Given the description of an element on the screen output the (x, y) to click on. 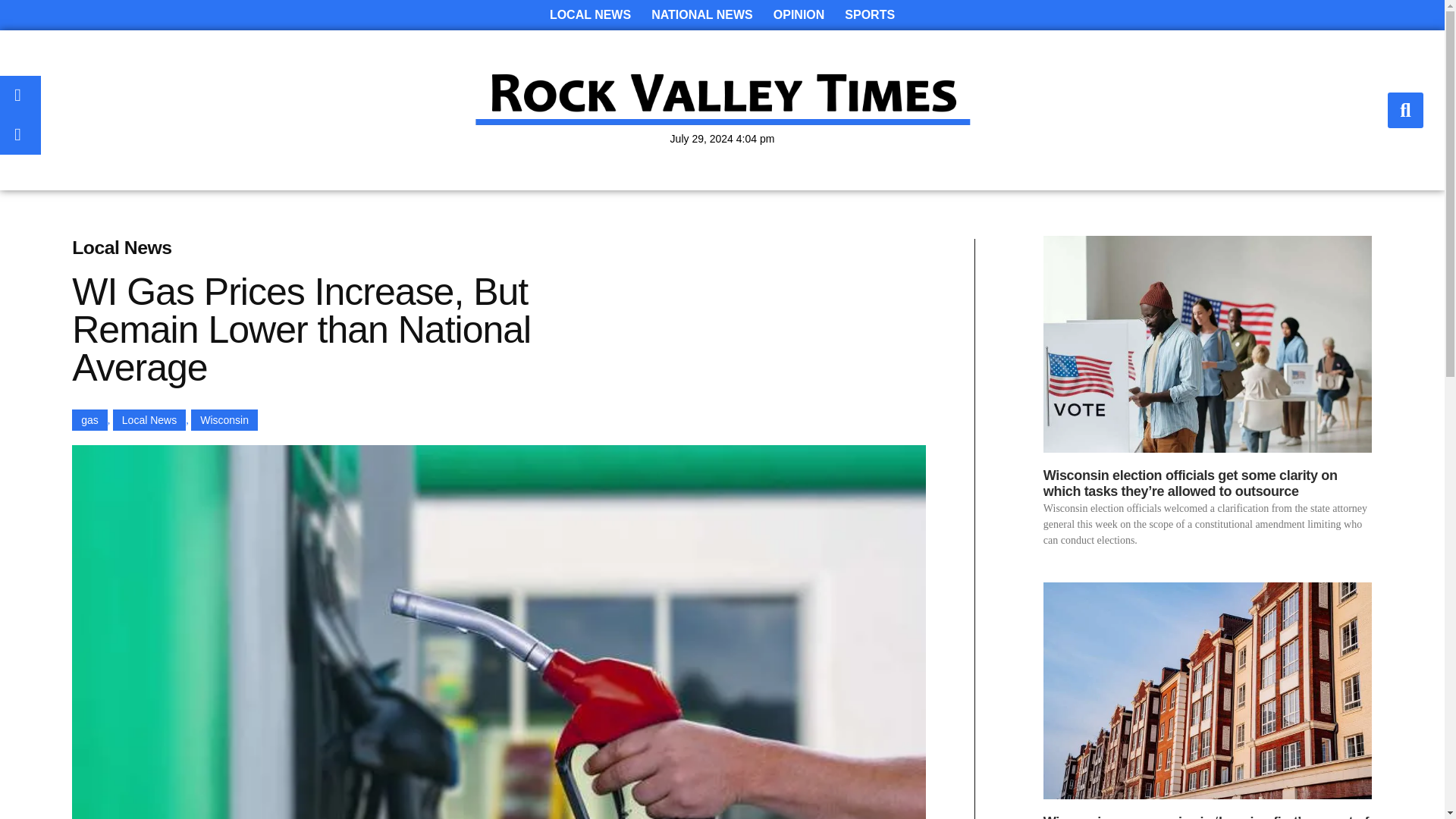
Local News (149, 419)
Wisconsin (223, 419)
gas (89, 419)
SPORTS (869, 15)
OPINION (798, 15)
LOCAL NEWS (590, 15)
NATIONAL NEWS (701, 15)
